Given the description of an element on the screen output the (x, y) to click on. 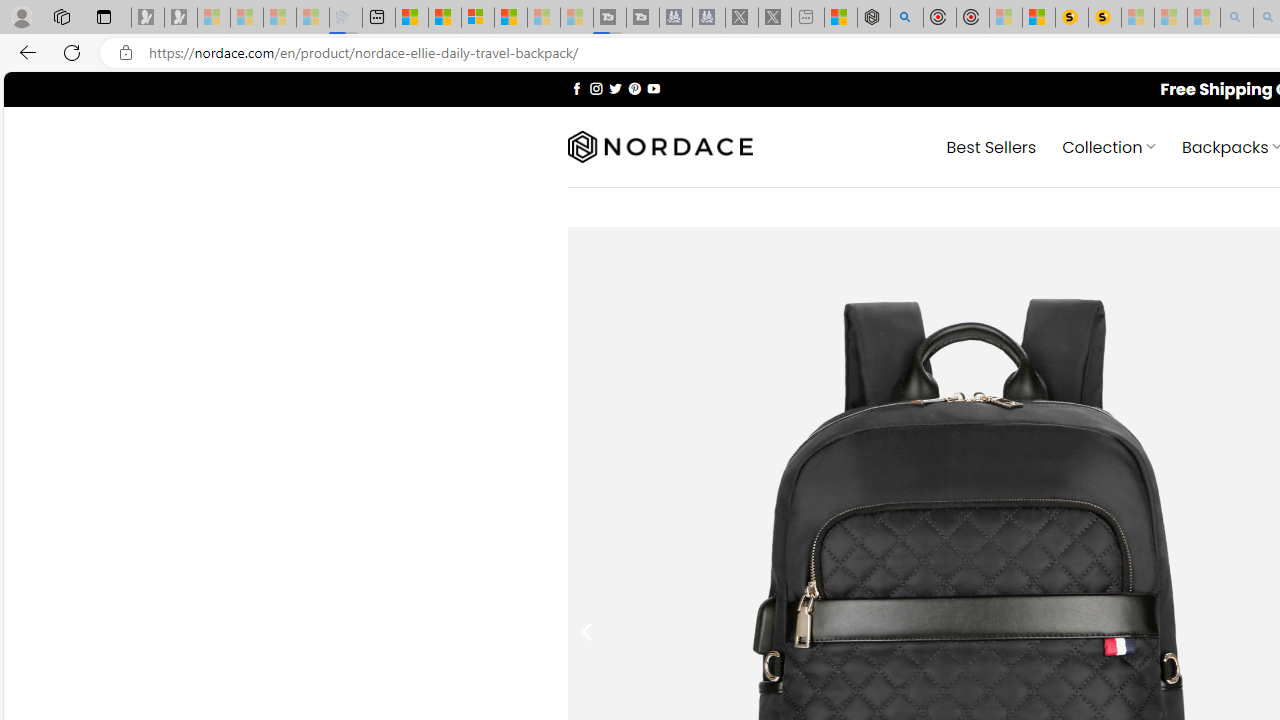
Follow on YouTube (653, 88)
amazon - Search - Sleeping (1237, 17)
Microsoft Start - Sleeping (543, 17)
Newsletter Sign Up - Sleeping (181, 17)
